Given the description of an element on the screen output the (x, y) to click on. 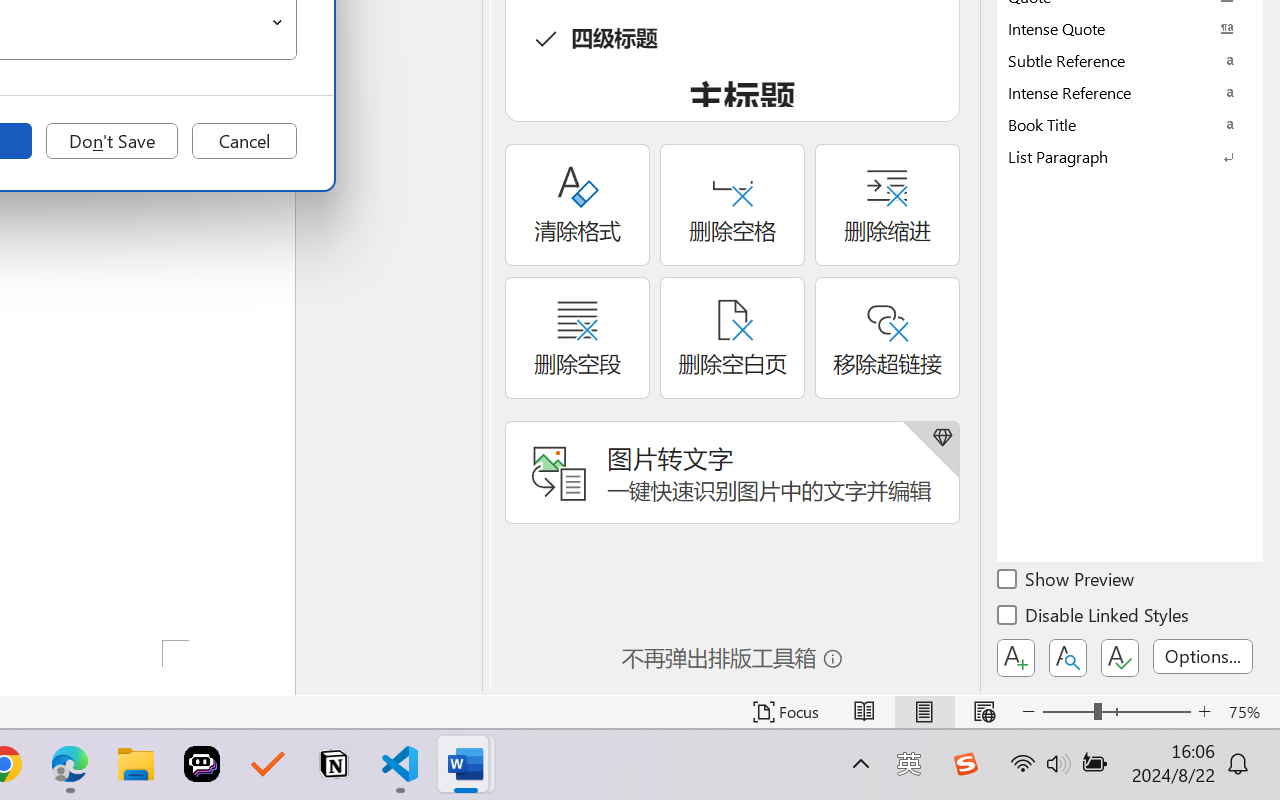
Book Title (1130, 124)
Class: NetUIButton (1119, 657)
Web Layout (984, 712)
Show Preview (1067, 582)
Subtle Reference (1130, 60)
List Paragraph (1130, 156)
Options... (1203, 656)
